Given the description of an element on the screen output the (x, y) to click on. 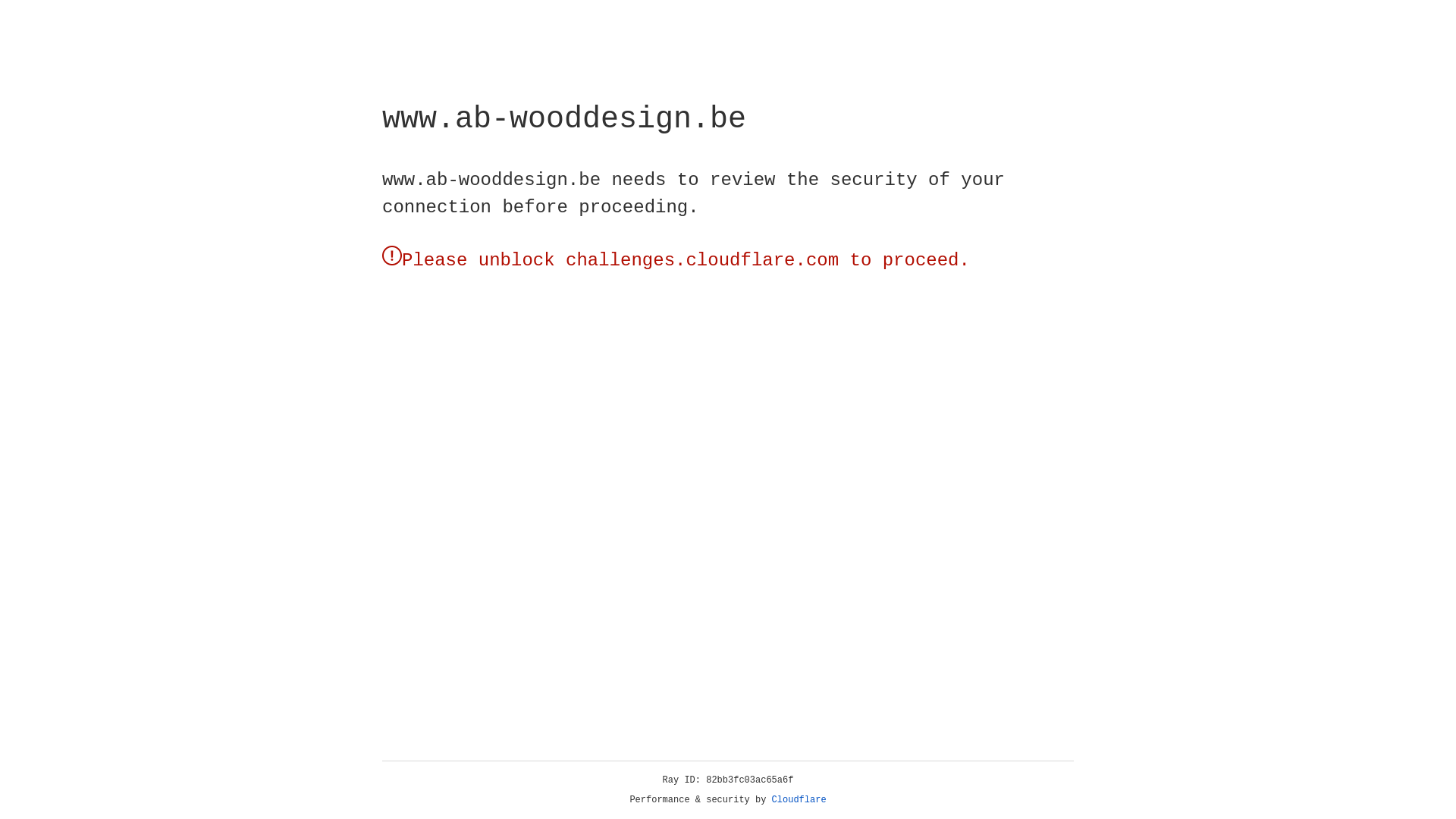
Cloudflare Element type: text (798, 799)
